Given the description of an element on the screen output the (x, y) to click on. 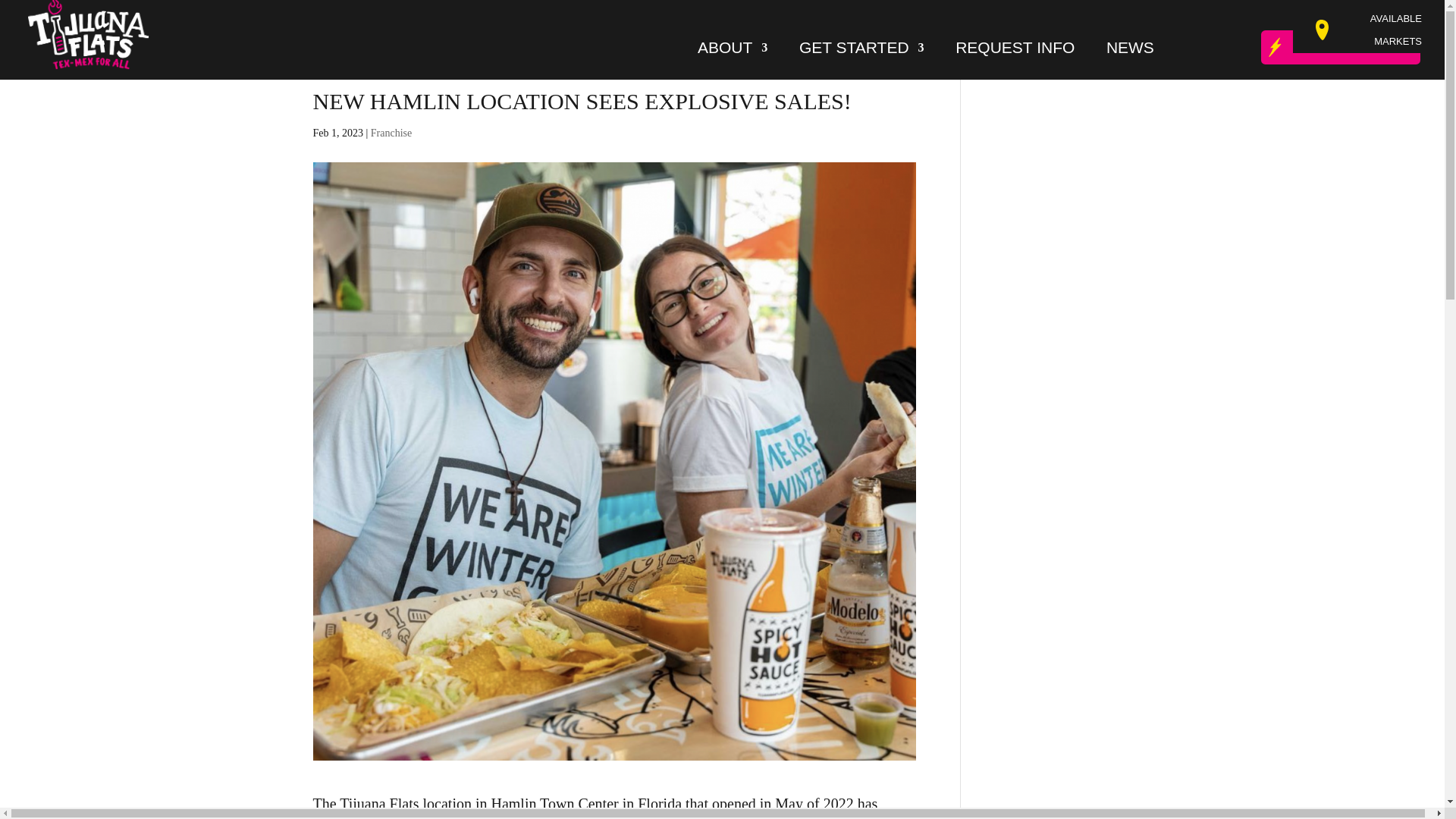
Franchise (391, 132)
REQUEST INFO (1014, 53)
ABOUT (732, 53)
CONTACT US (1340, 47)
GET STARTED (861, 53)
NEWS (1130, 53)
AVAILABLE MARKETS (1378, 30)
